Given the description of an element on the screen output the (x, y) to click on. 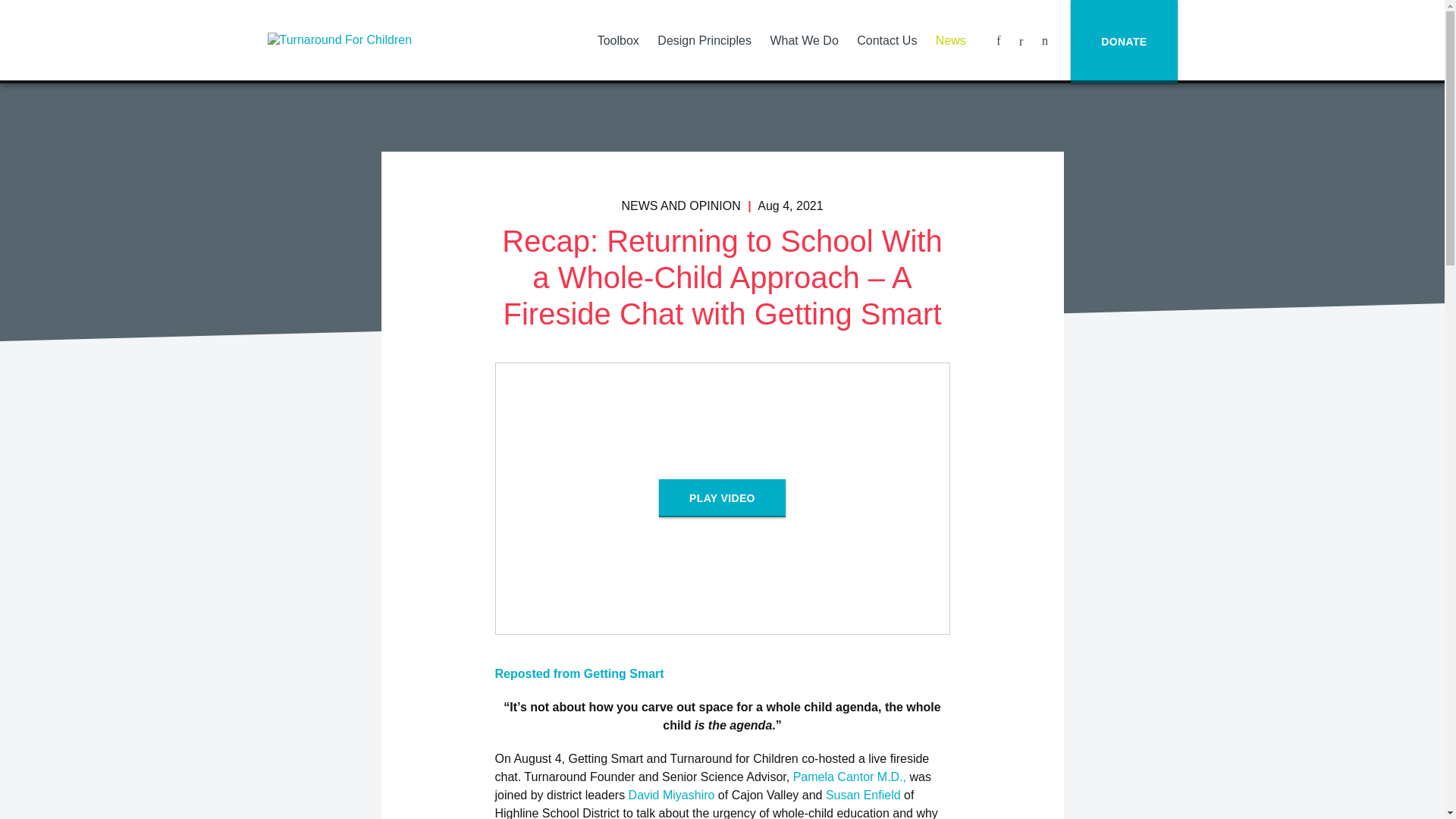
Design Principles (703, 40)
Toolbox (617, 40)
Contact Us (886, 40)
What We Do (803, 40)
Turnaround For Children (357, 39)
News (951, 40)
DONATE (1123, 41)
